Given the description of an element on the screen output the (x, y) to click on. 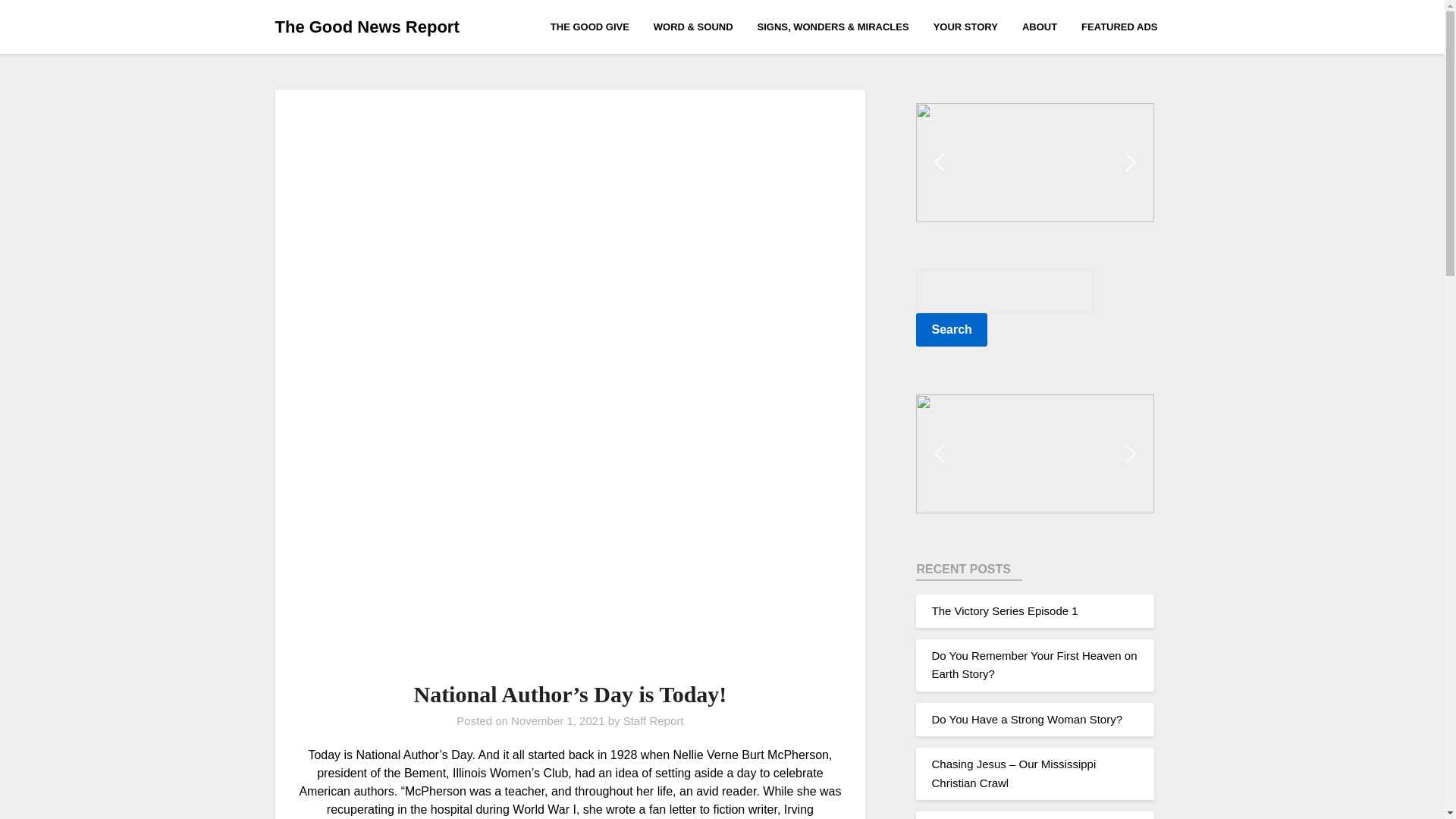
THE GOOD GIVE (596, 26)
Search (951, 329)
Do You Have a Strong Woman Story? (1026, 718)
Do You Remember Your First Heaven on Earth Story? (1034, 664)
ABOUT (1039, 26)
November 1, 2021 (557, 720)
The Victory Series Episode 1 (1004, 610)
Staff Report (653, 720)
YOUR STORY (965, 26)
FEATURED ADS (1118, 26)
The Good News Report (366, 26)
